Given the description of an element on the screen output the (x, y) to click on. 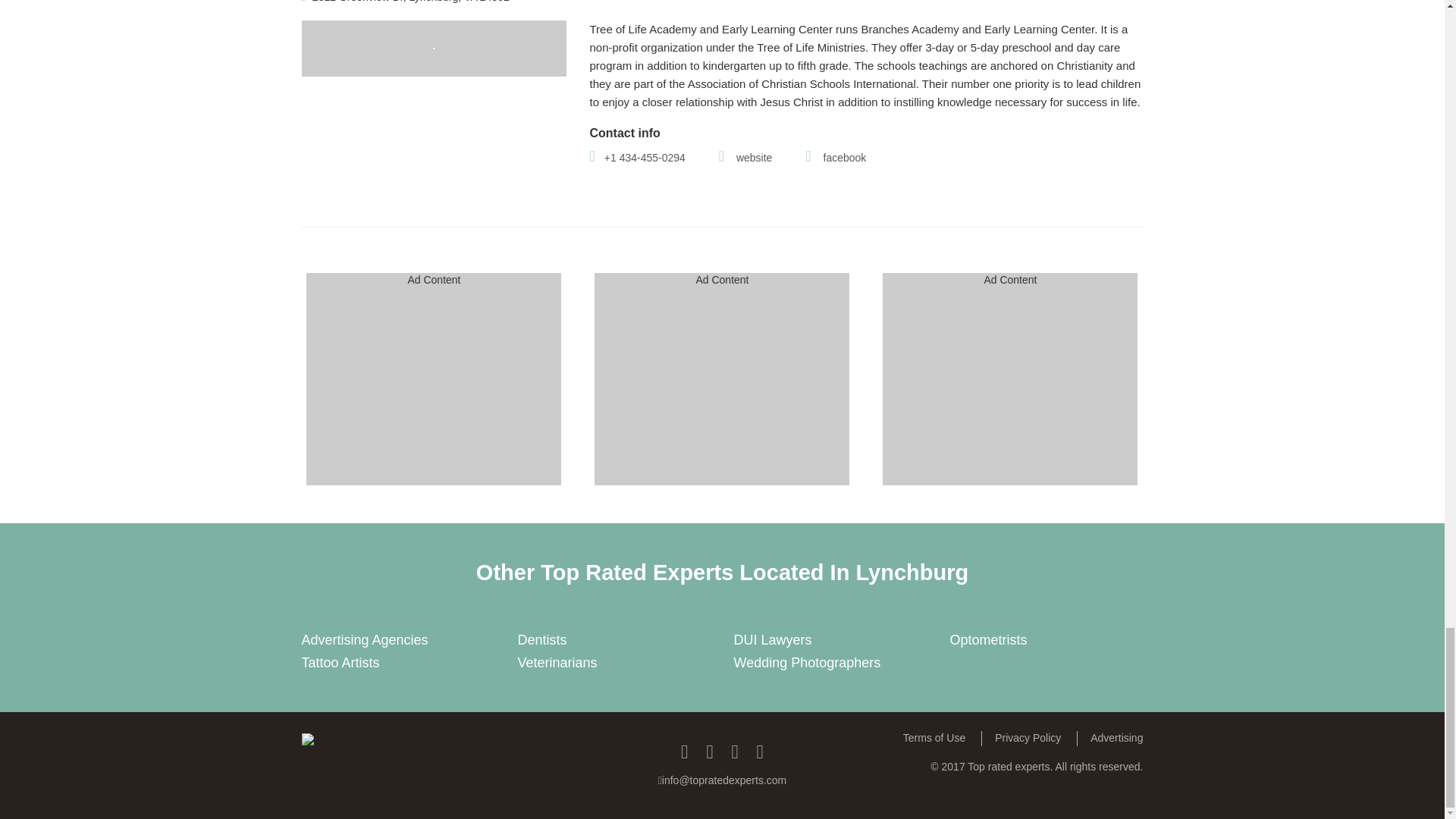
Terms of Use (933, 738)
DUI Lawyers (772, 639)
Wedding Photographers (806, 662)
Advertising Agencies (364, 639)
Privacy Policy (1027, 738)
Dentists (541, 639)
Veterinarians (556, 662)
facebook (835, 157)
website (746, 157)
Advertising (1109, 738)
